Given the description of an element on the screen output the (x, y) to click on. 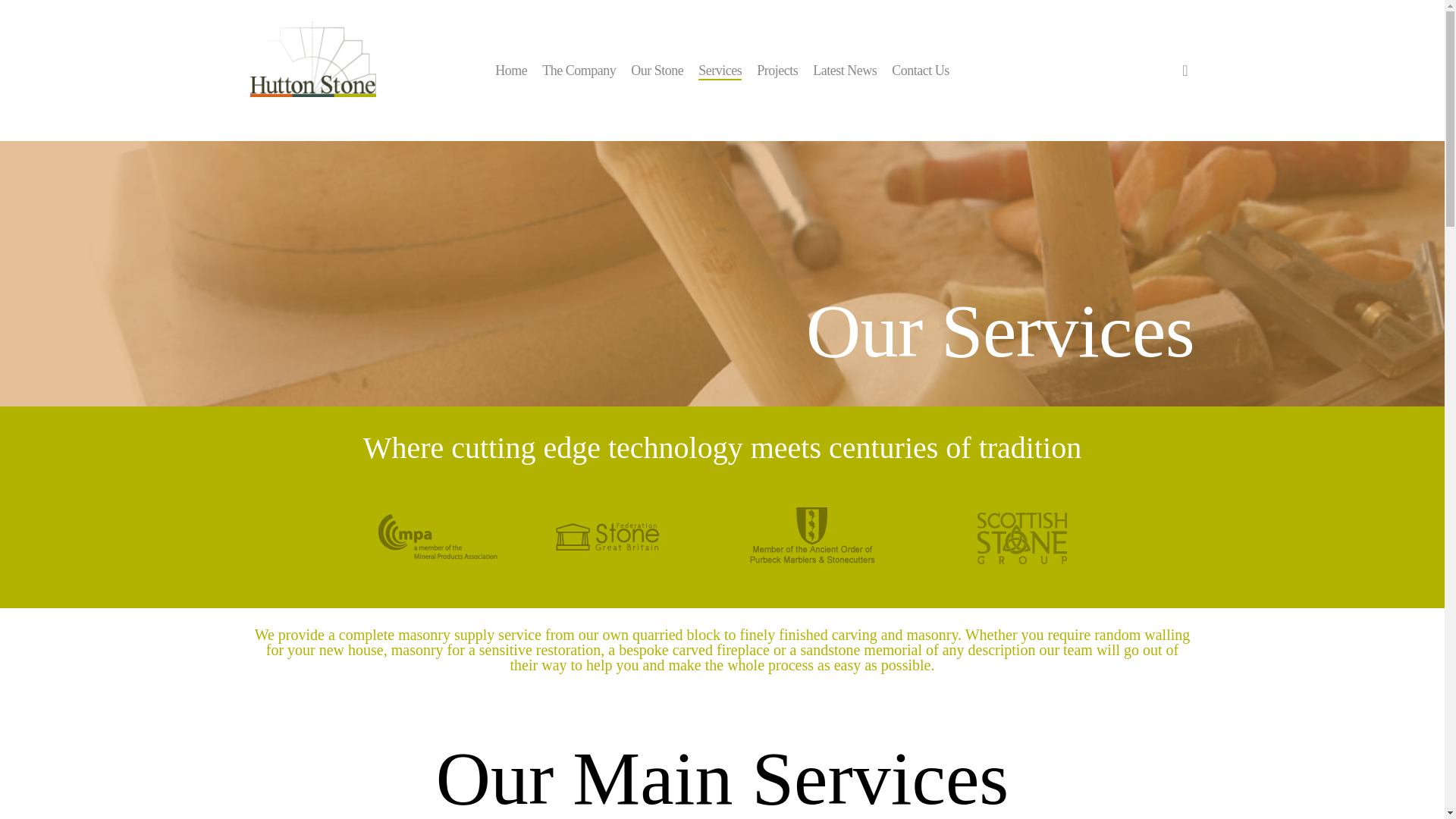
Latest News (844, 69)
The Company (578, 69)
